Given the description of an element on the screen output the (x, y) to click on. 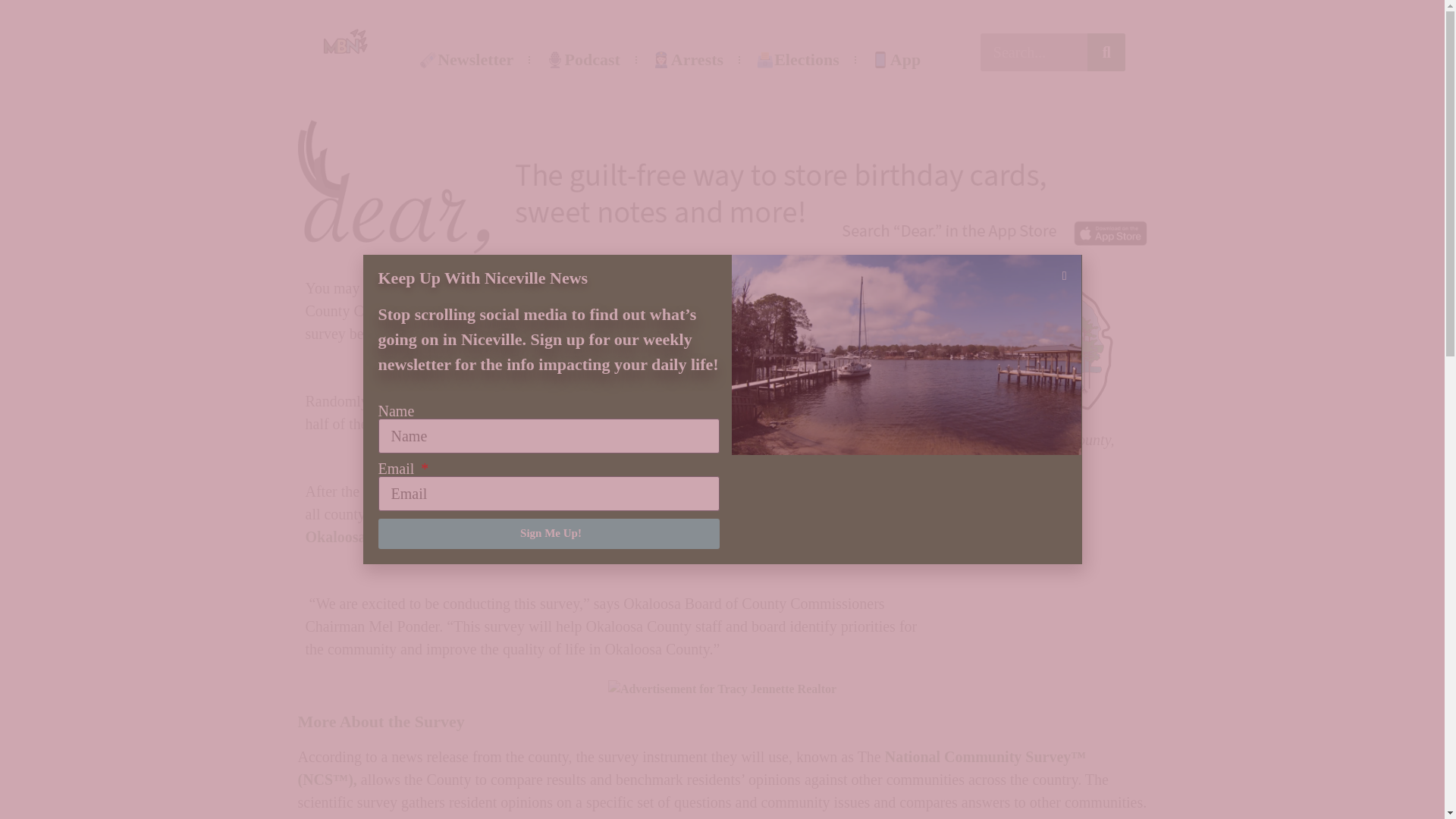
Podcast (581, 59)
App (896, 59)
Arrests (687, 59)
Elections (796, 59)
Newsletter (465, 59)
